Given the description of an element on the screen output the (x, y) to click on. 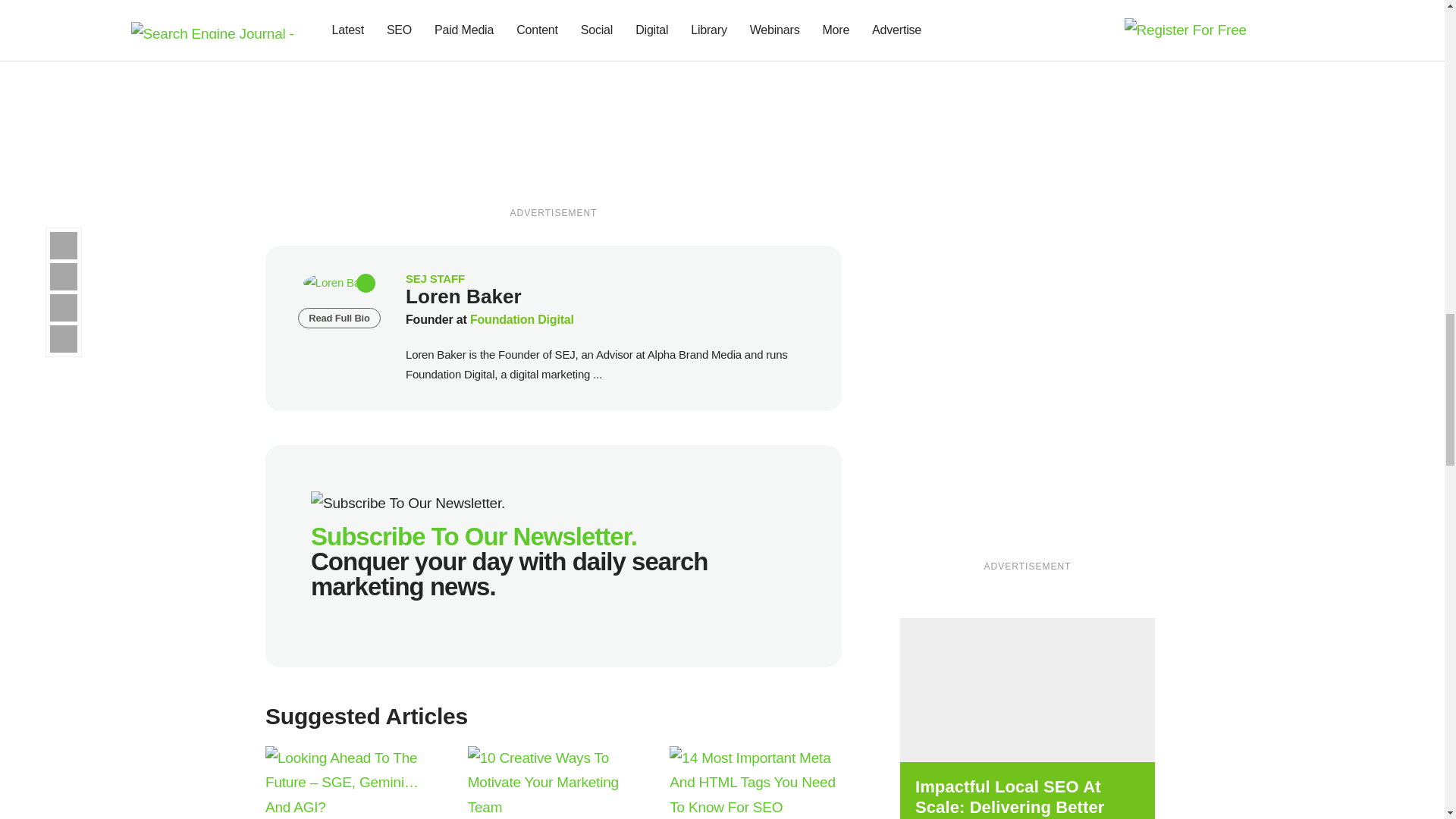
Read the Article (553, 782)
Read the Article (755, 782)
Read the Article (351, 782)
